Given the description of an element on the screen output the (x, y) to click on. 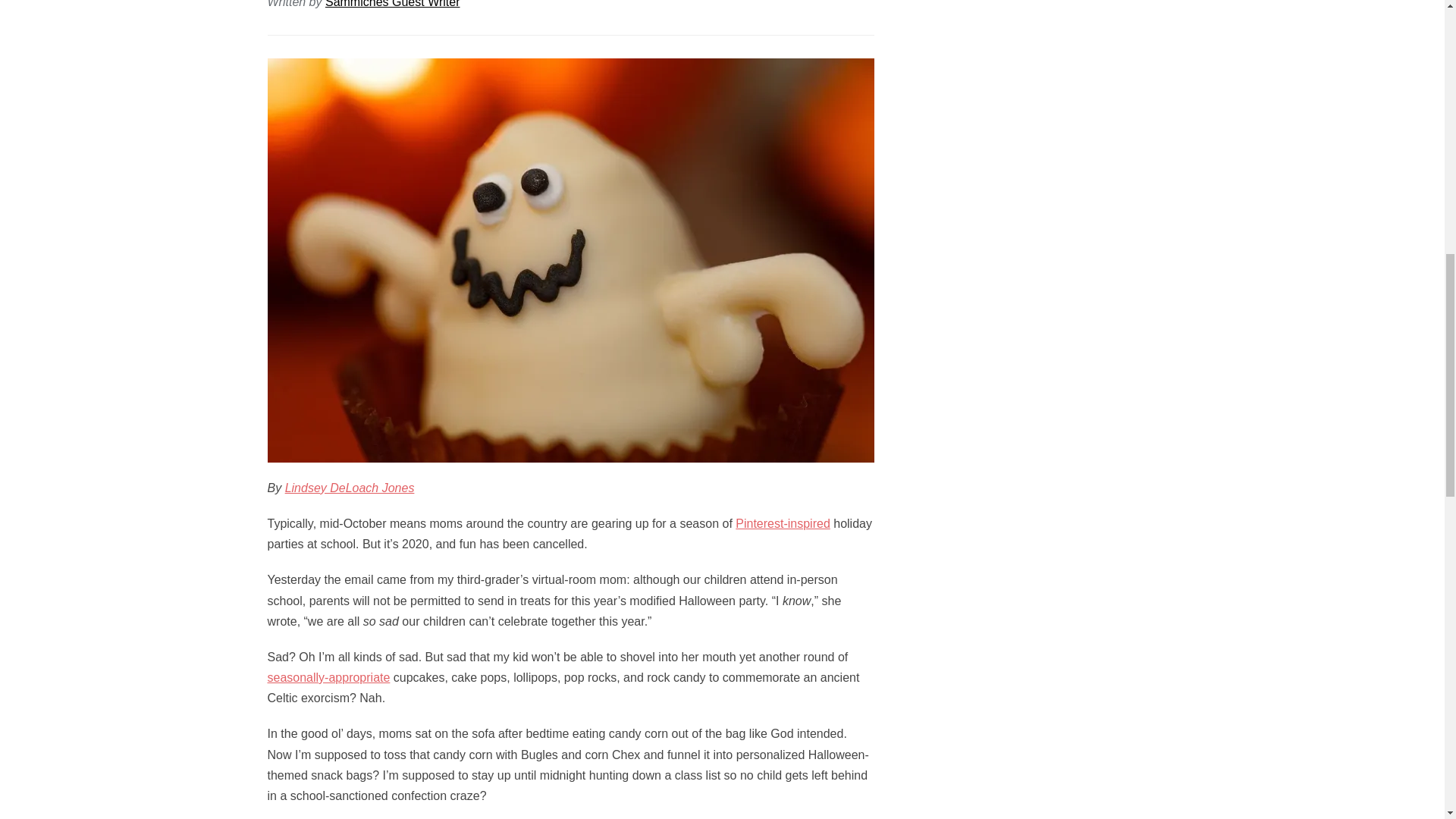
Posts by Sammiches Guest Writer (392, 4)
